Given the description of an element on the screen output the (x, y) to click on. 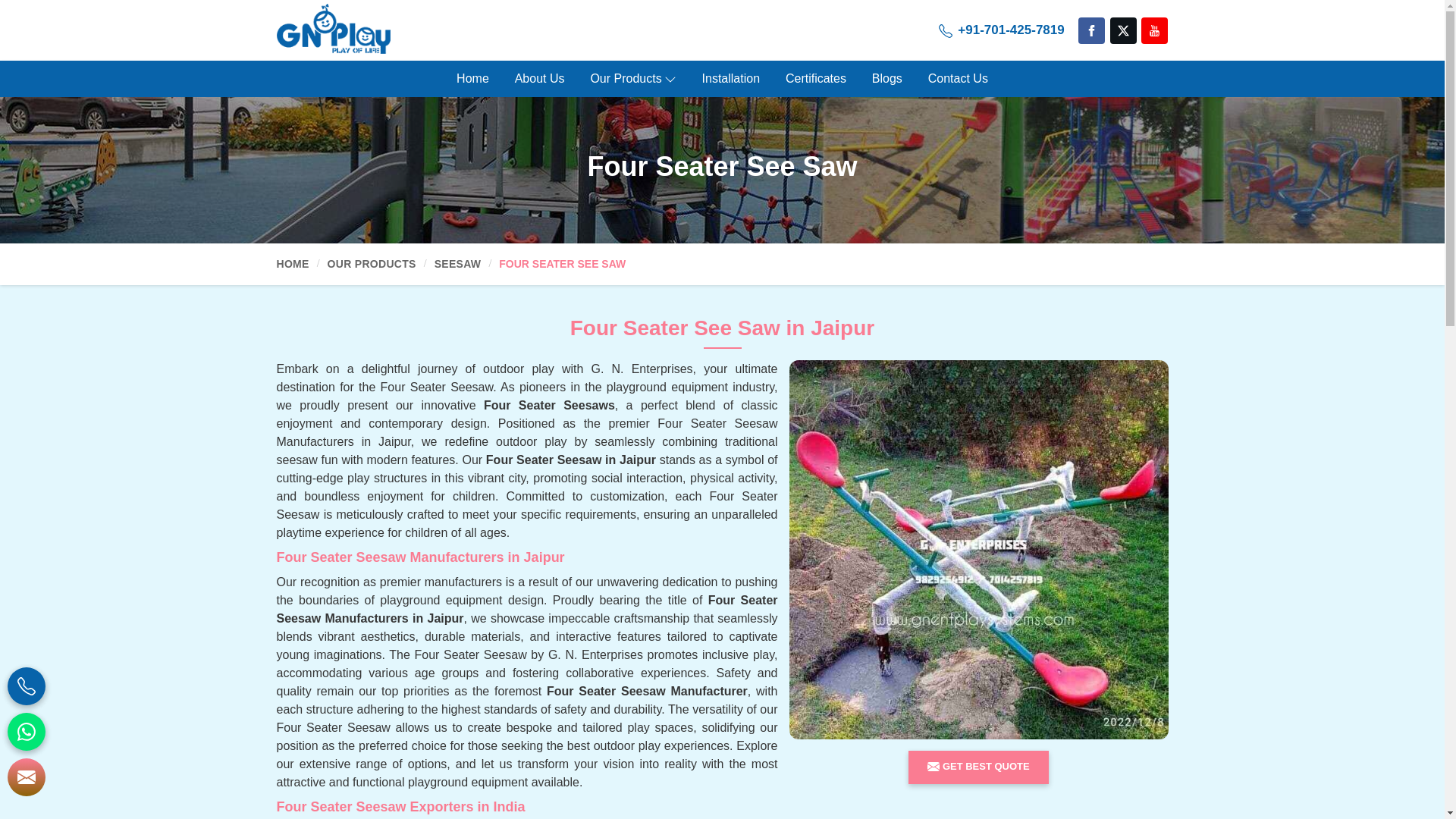
Home (472, 78)
Call Us Now (1001, 30)
About Us (539, 78)
Youtube (1154, 29)
Home (472, 78)
Twitter (1123, 29)
G. N. Enterprises (333, 29)
Our Products  (632, 78)
Our Products (632, 78)
About Us (539, 78)
Facebook (1091, 29)
